Given the description of an element on the screen output the (x, y) to click on. 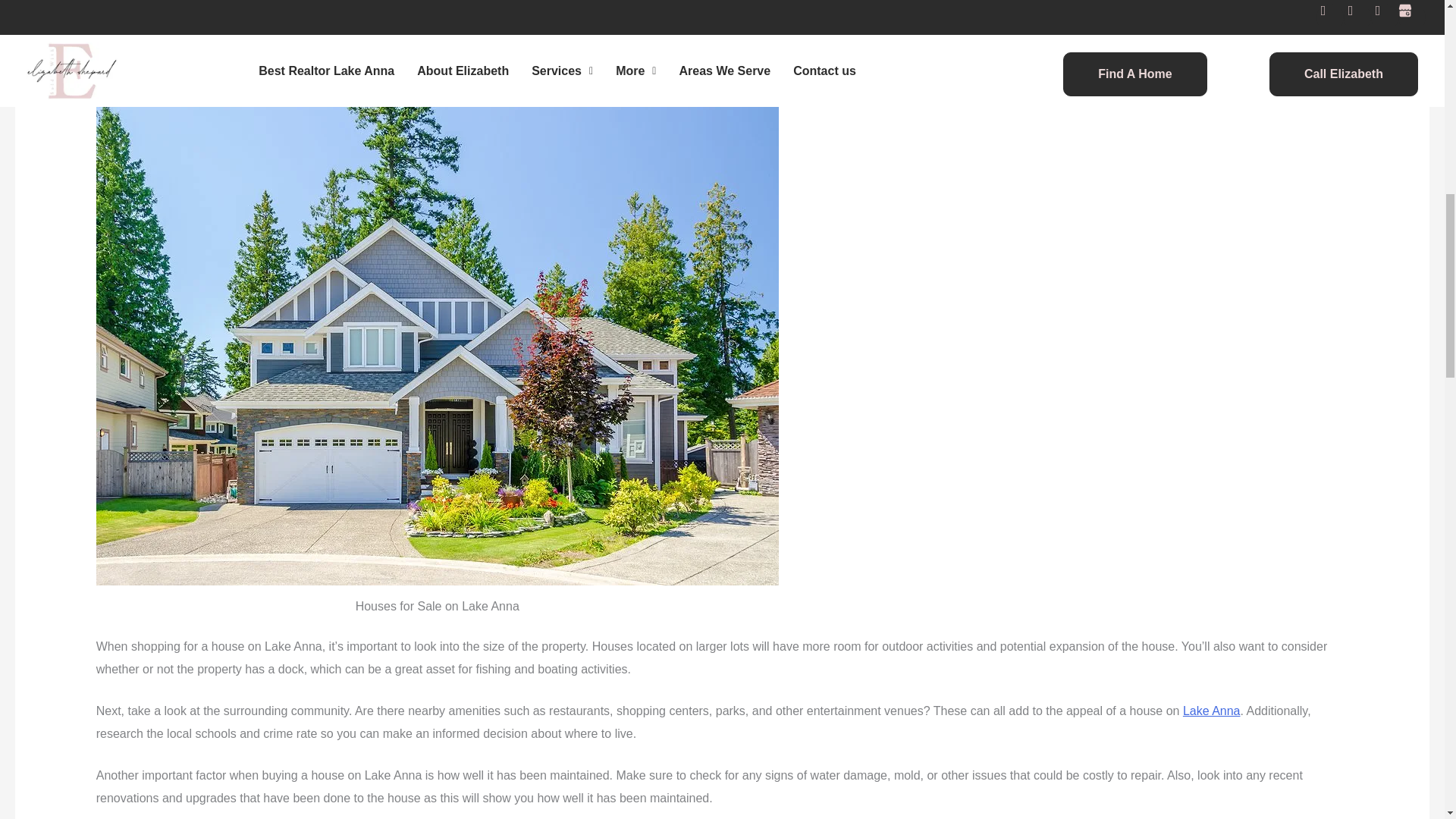
Lake Anna (1211, 710)
houses for sale on Lake Anna (336, 43)
